Given the description of an element on the screen output the (x, y) to click on. 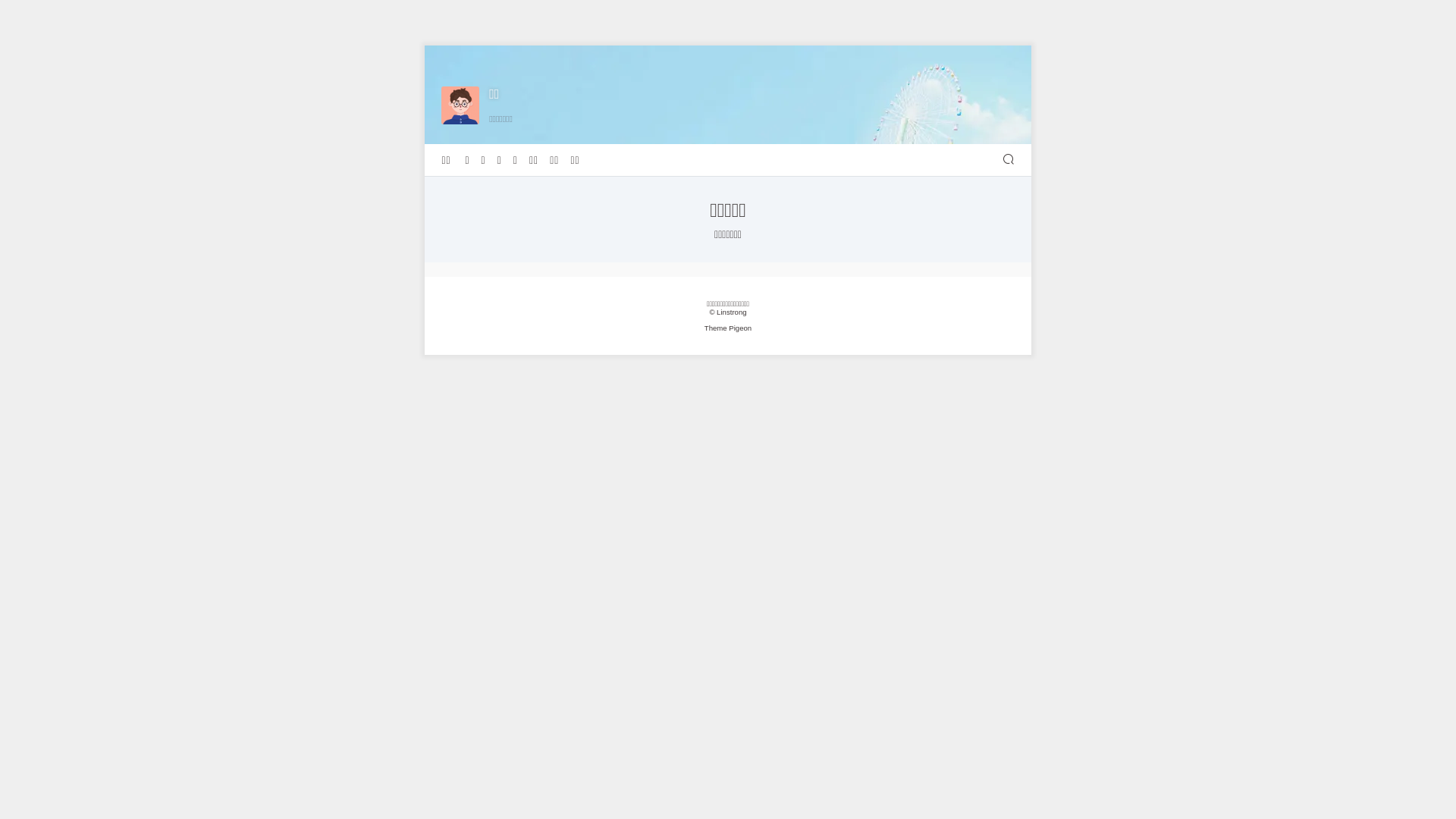
Pigeon Element type: text (739, 327)
